Given the description of an element on the screen output the (x, y) to click on. 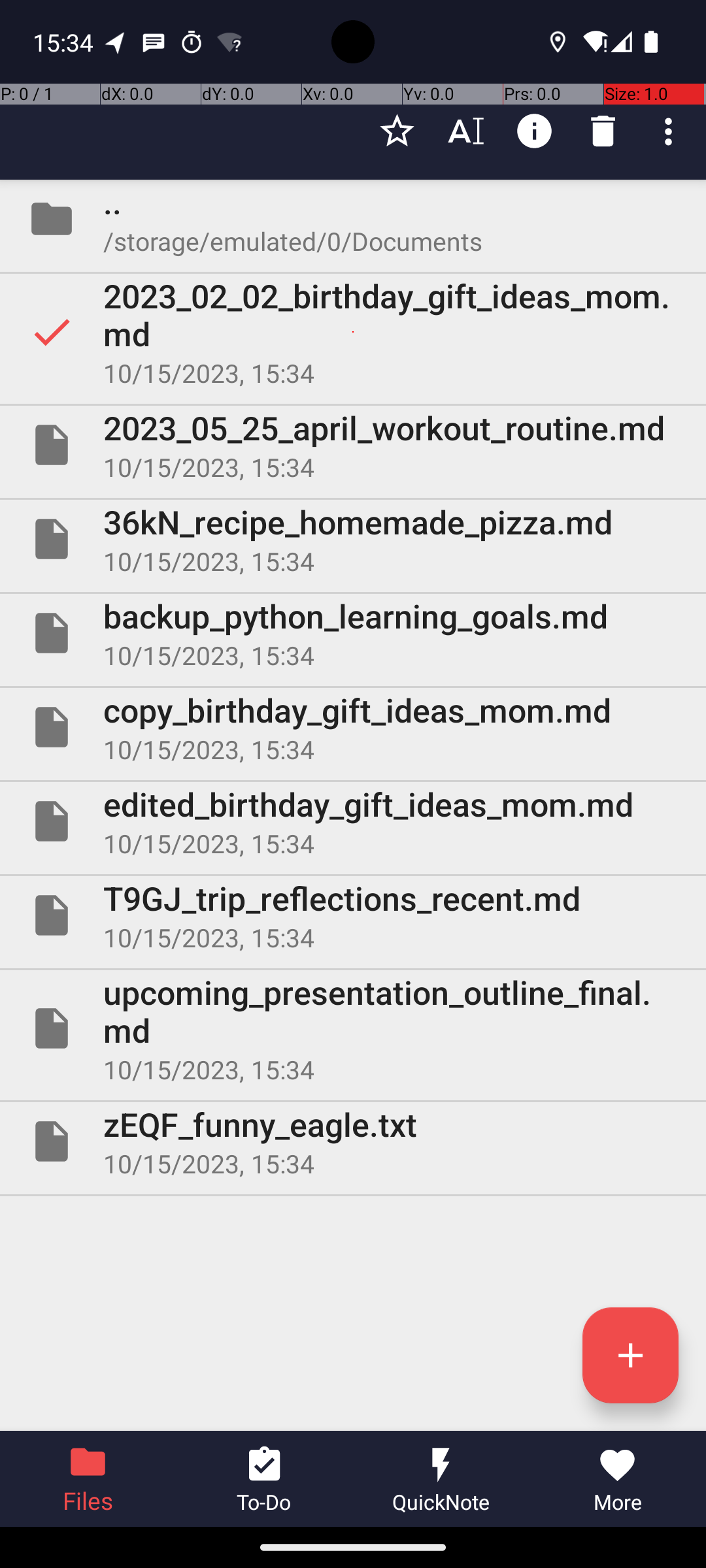
Favourite Element type: android.widget.TextView (396, 131)
Rename Element type: android.widget.TextView (465, 131)
Selected 2023_02_02_birthday_gift_ideas_mom.md  Element type: android.widget.LinearLayout (353, 331)
File 2023_05_25_april_workout_routine.md  Element type: android.widget.LinearLayout (353, 444)
File 36kN_recipe_homemade_pizza.md  Element type: android.widget.LinearLayout (353, 538)
File backup_python_learning_goals.md  Element type: android.widget.LinearLayout (353, 632)
File copy_birthday_gift_ideas_mom.md  Element type: android.widget.LinearLayout (353, 726)
File edited_birthday_gift_ideas_mom.md  Element type: android.widget.LinearLayout (353, 821)
File T9GJ_trip_reflections_recent.md  Element type: android.widget.LinearLayout (353, 915)
File upcoming_presentation_outline_final.md  Element type: android.widget.LinearLayout (353, 1028)
File zEQF_funny_eagle.txt  Element type: android.widget.LinearLayout (353, 1141)
